Given the description of an element on the screen output the (x, y) to click on. 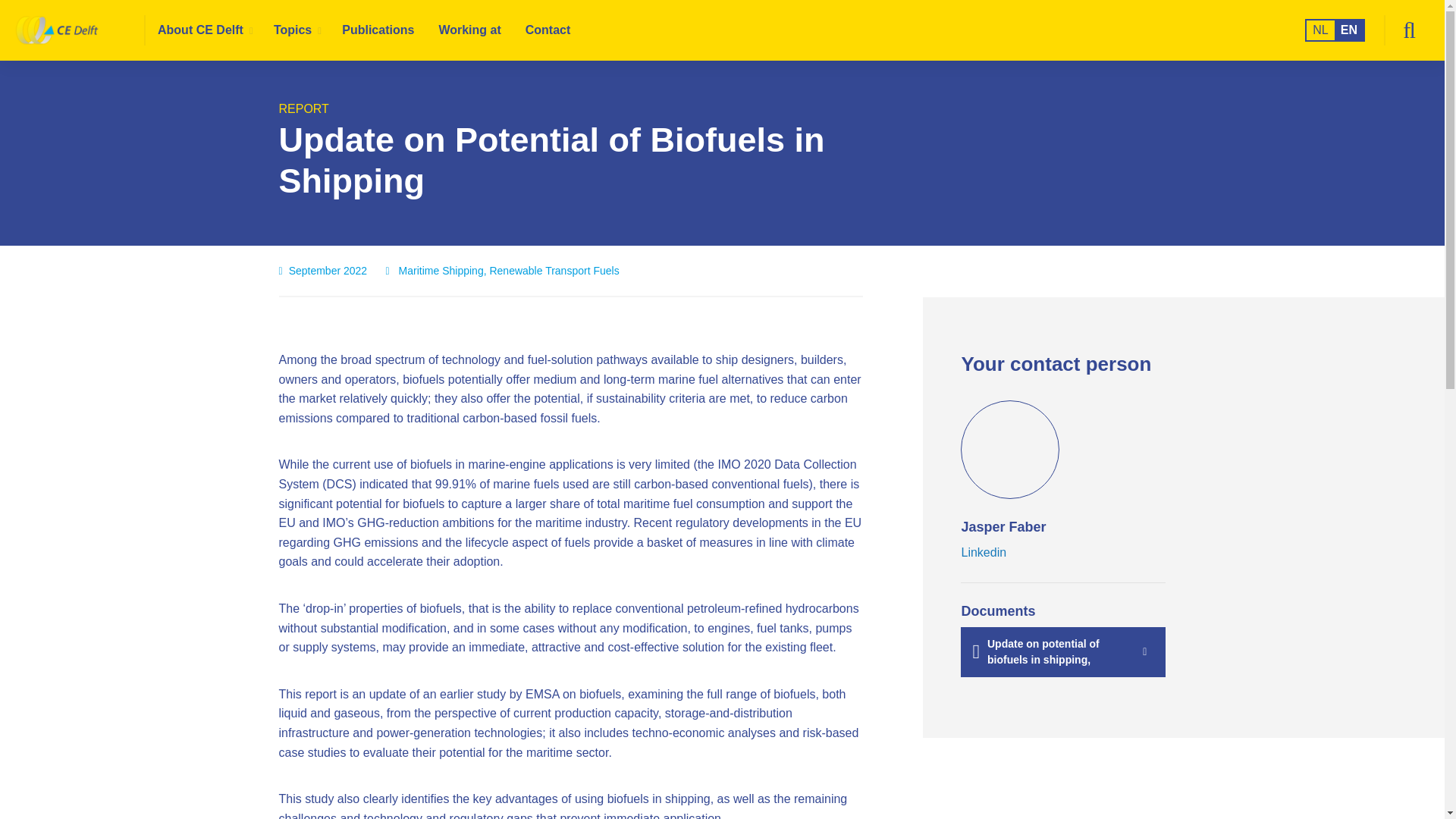
Logo CE Delft (79, 30)
About CE Delft (203, 30)
Topics (296, 30)
